Given the description of an element on the screen output the (x, y) to click on. 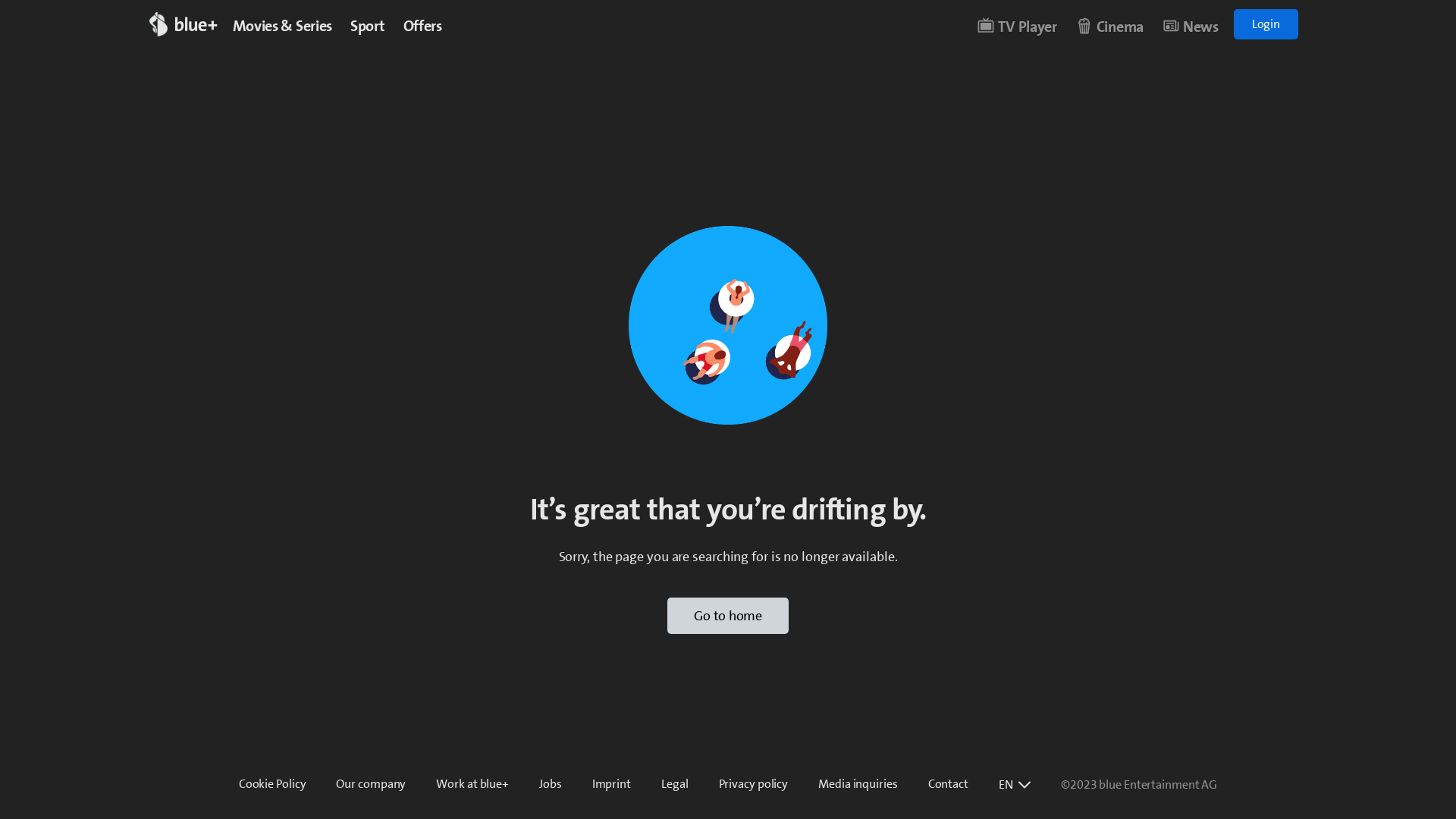
Cinema Element type: text (1109, 26)
EN Element type: text (1014, 784)
Movies & Series Element type: text (282, 25)
Login Element type: text (1265, 24)
Work at blue+ Element type: text (472, 783)
Offers Element type: text (422, 25)
Jobs Element type: text (550, 783)
Go to home Element type: text (727, 615)
TV Player Element type: text (1016, 26)
Cookie Policy Element type: text (272, 783)
Sport Element type: text (367, 25)
Blue+ Logo Element type: text (190, 24)
News Element type: text (1189, 26)
Contact Element type: text (948, 783)
Media inquiries Element type: text (857, 783)
Privacy policy Element type: text (753, 783)
Imprint Element type: text (611, 783)
Legal Element type: text (674, 783)
Our company Element type: text (370, 783)
